Given the description of an element on the screen output the (x, y) to click on. 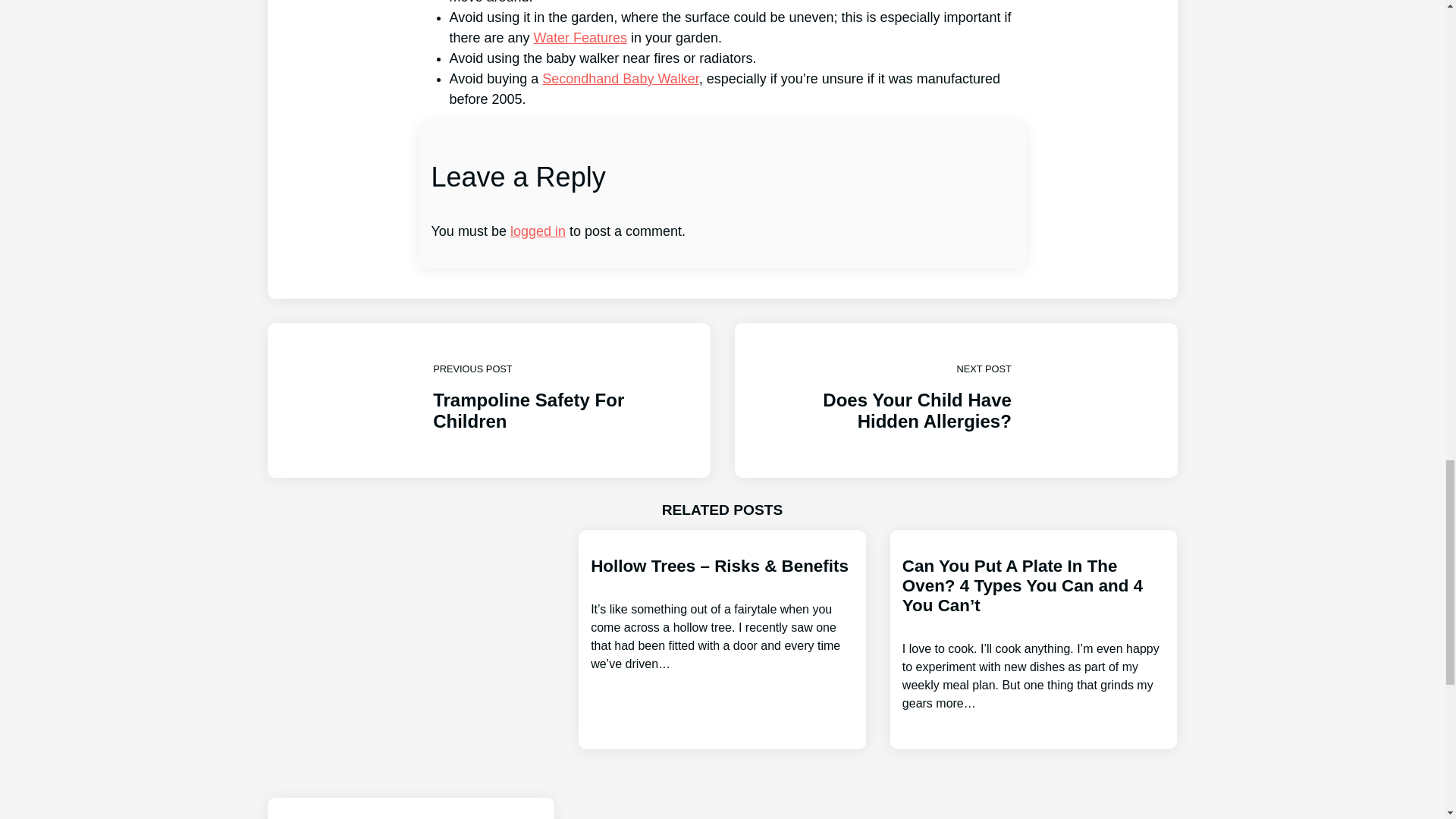
Water Features (954, 399)
Secondhand Baby Walker (580, 37)
logged in (619, 78)
